Given the description of an element on the screen output the (x, y) to click on. 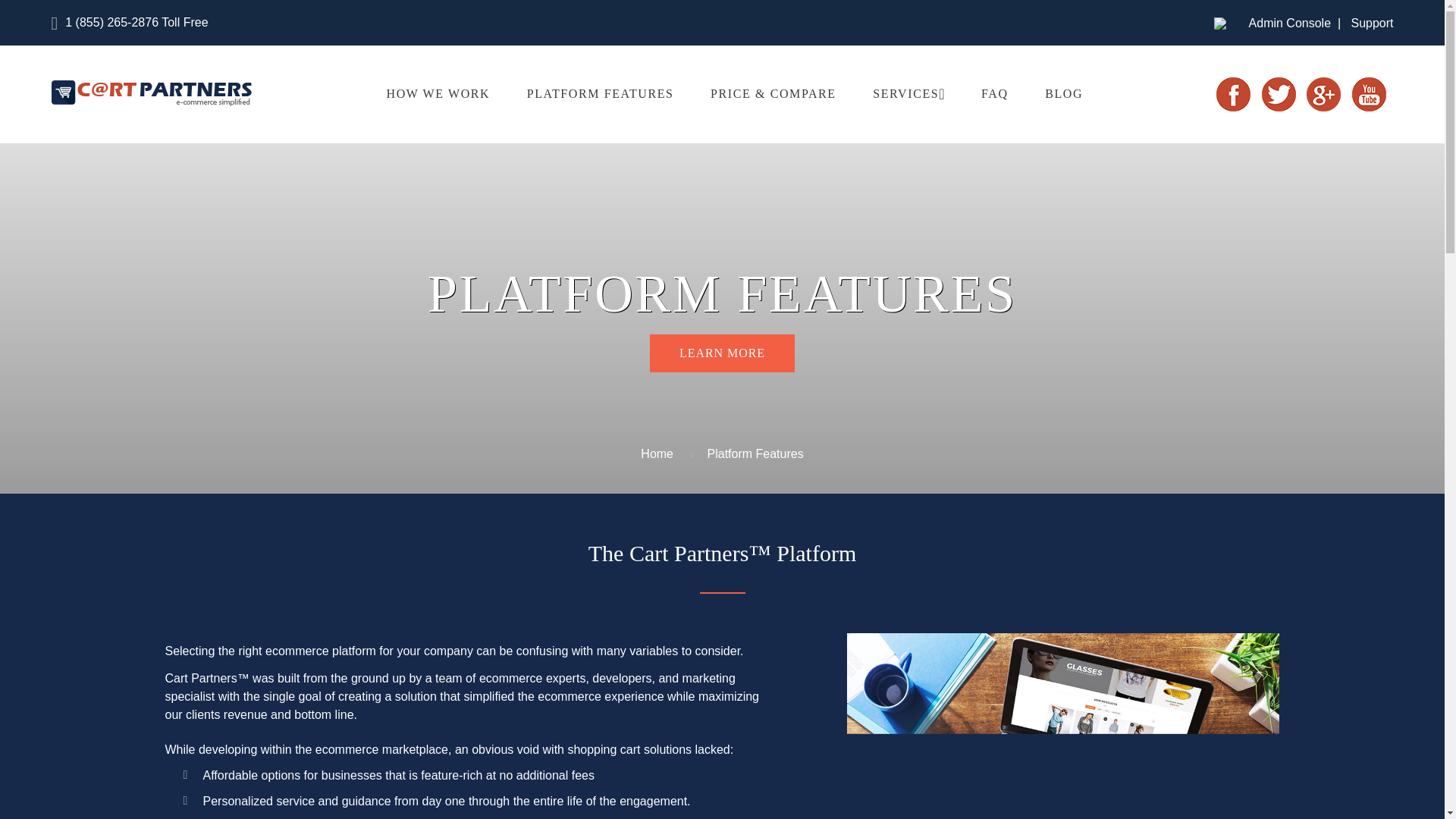
LEARN MORE (721, 353)
Support (1372, 23)
HOW WE WORK (438, 93)
Admin Console (1290, 23)
PLATFORM FEATURES (600, 93)
SERVICES (905, 93)
Home (656, 453)
BLOG (1064, 93)
FAQ (995, 93)
